Given the description of an element on the screen output the (x, y) to click on. 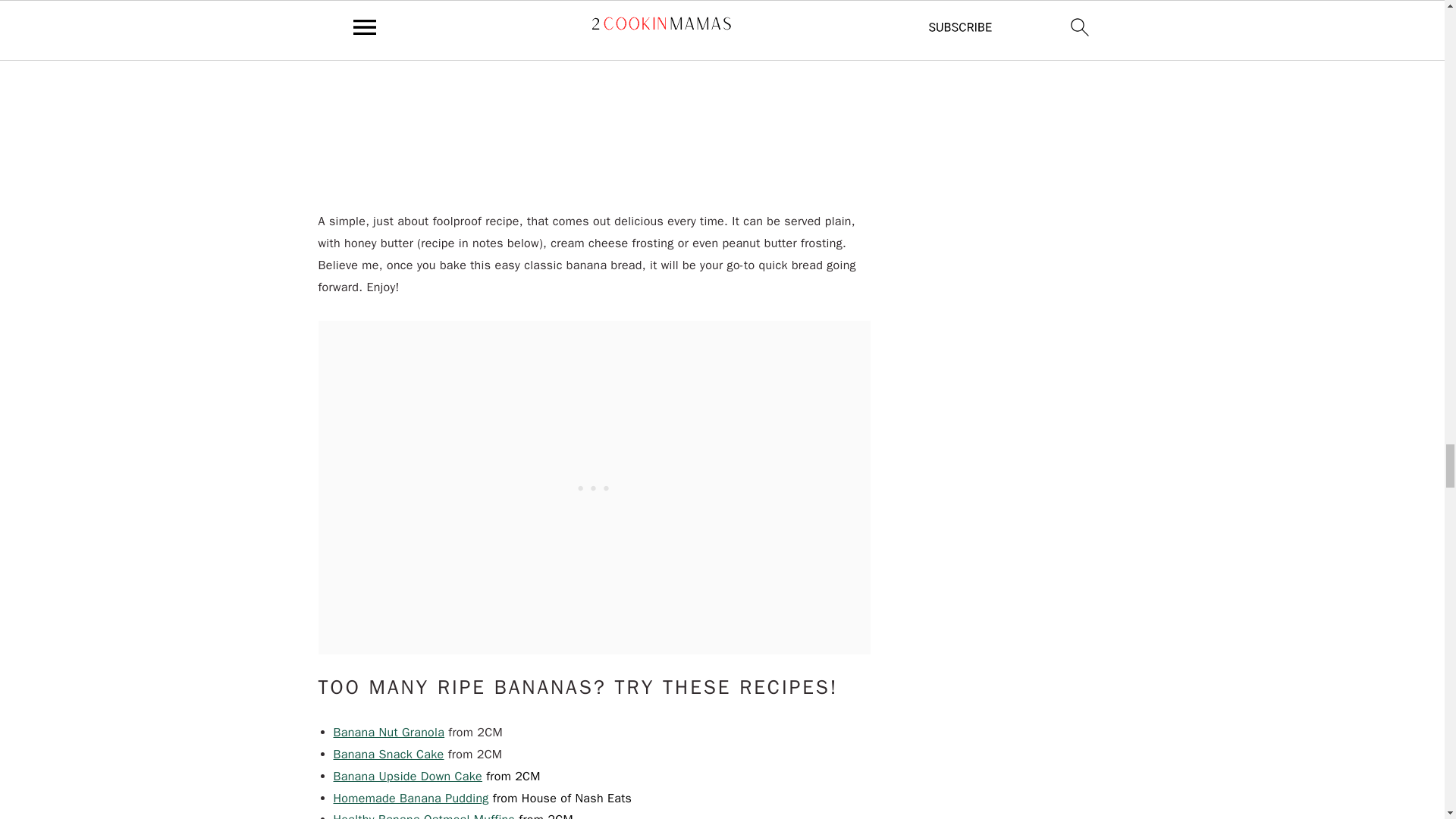
Banana Upside Down Cake (408, 776)
Banana Nut Granola (389, 732)
Homemade Banana Pudding (411, 797)
Banana Snack Cake (388, 754)
